Given the description of an element on the screen output the (x, y) to click on. 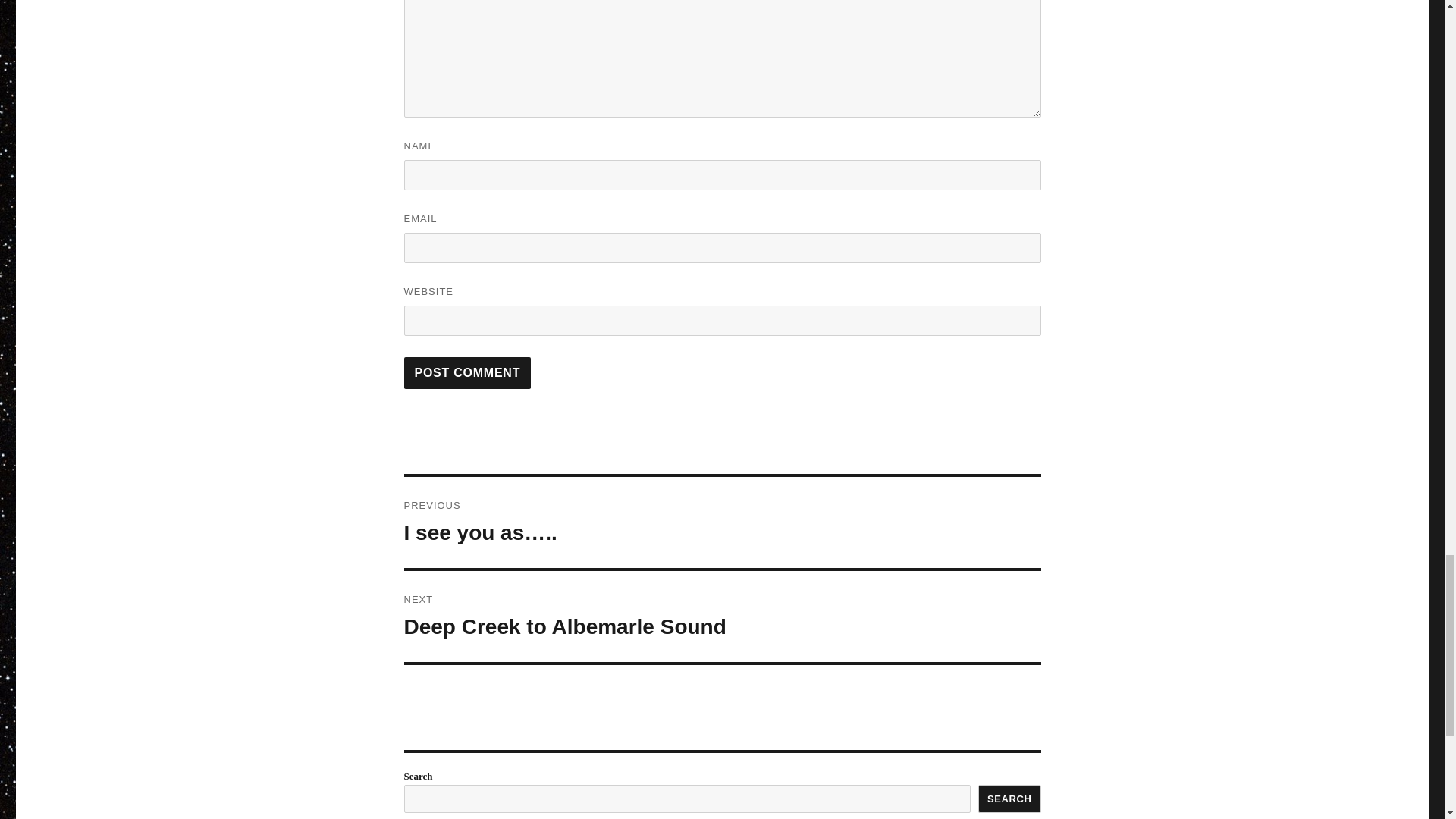
SEARCH (1009, 798)
Post Comment (722, 615)
Post Comment (467, 373)
